Given the description of an element on the screen output the (x, y) to click on. 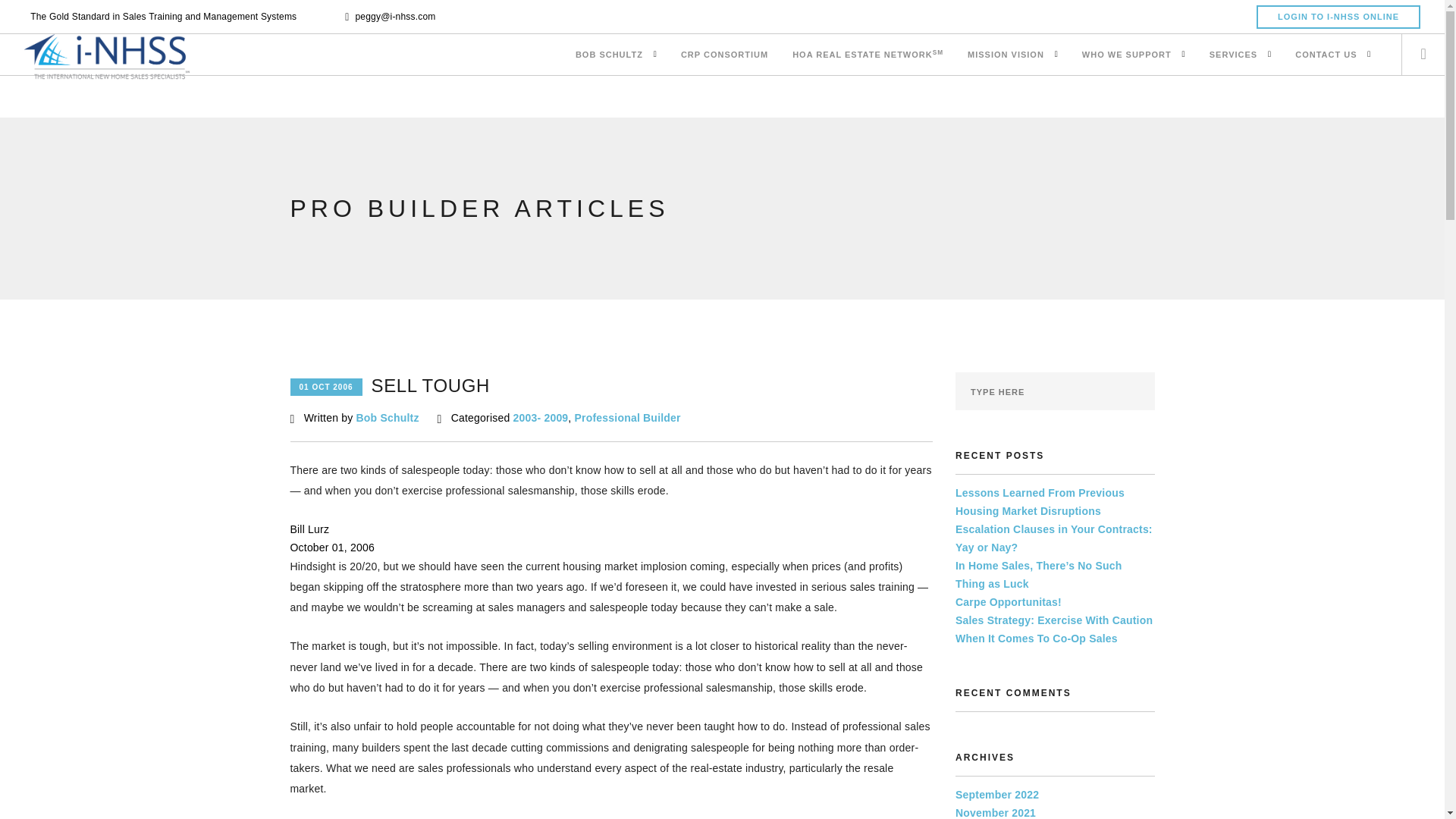
Bob Schultz (387, 417)
Professional Builder (628, 417)
Carpe Opportunitas! (1008, 602)
HOA REAL ESTATE NETWORKSM (867, 55)
LOGIN TO I-NHSS ONLINE (1338, 16)
Lessons Learned From Previous Housing Market Disruptions (1039, 501)
WHO WE SUPPORT (1126, 55)
01 OCT 2006SELL TOUGH (389, 386)
MISSION VISION (1005, 55)
2003- 2009 (541, 417)
